Given the description of an element on the screen output the (x, y) to click on. 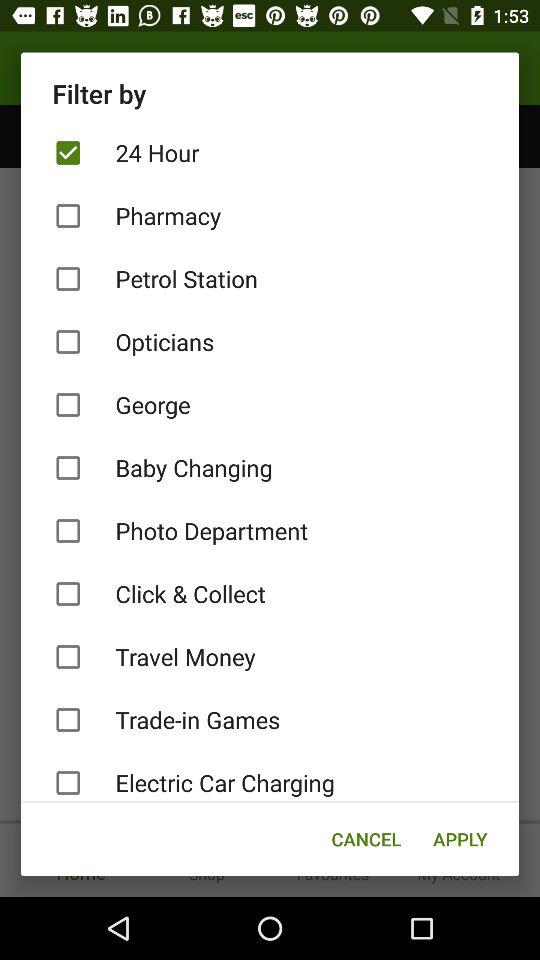
press the item below filter by item (270, 152)
